Given the description of an element on the screen output the (x, y) to click on. 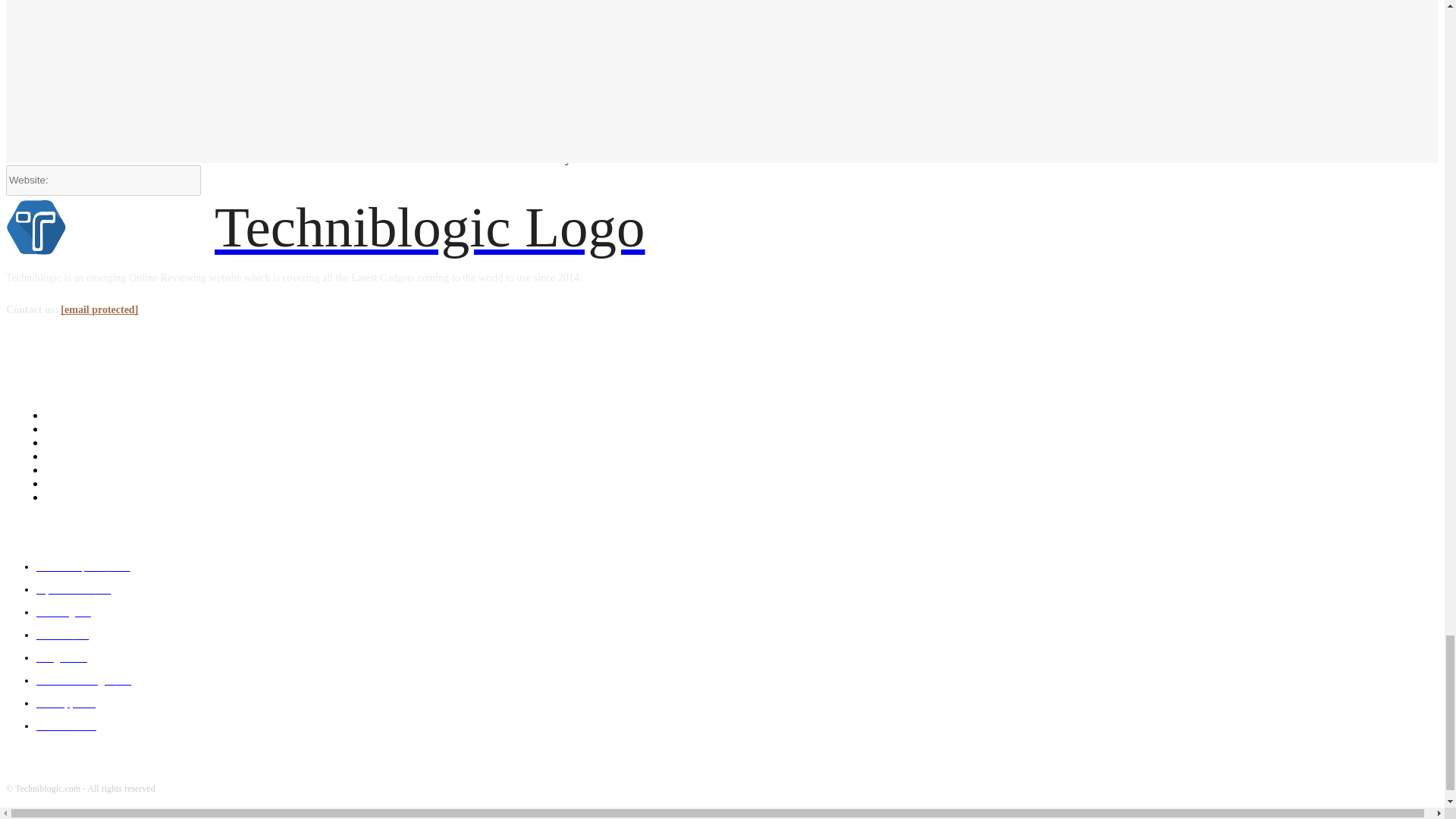
yes (1002, 126)
Post Comment (1033, 154)
